Given the description of an element on the screen output the (x, y) to click on. 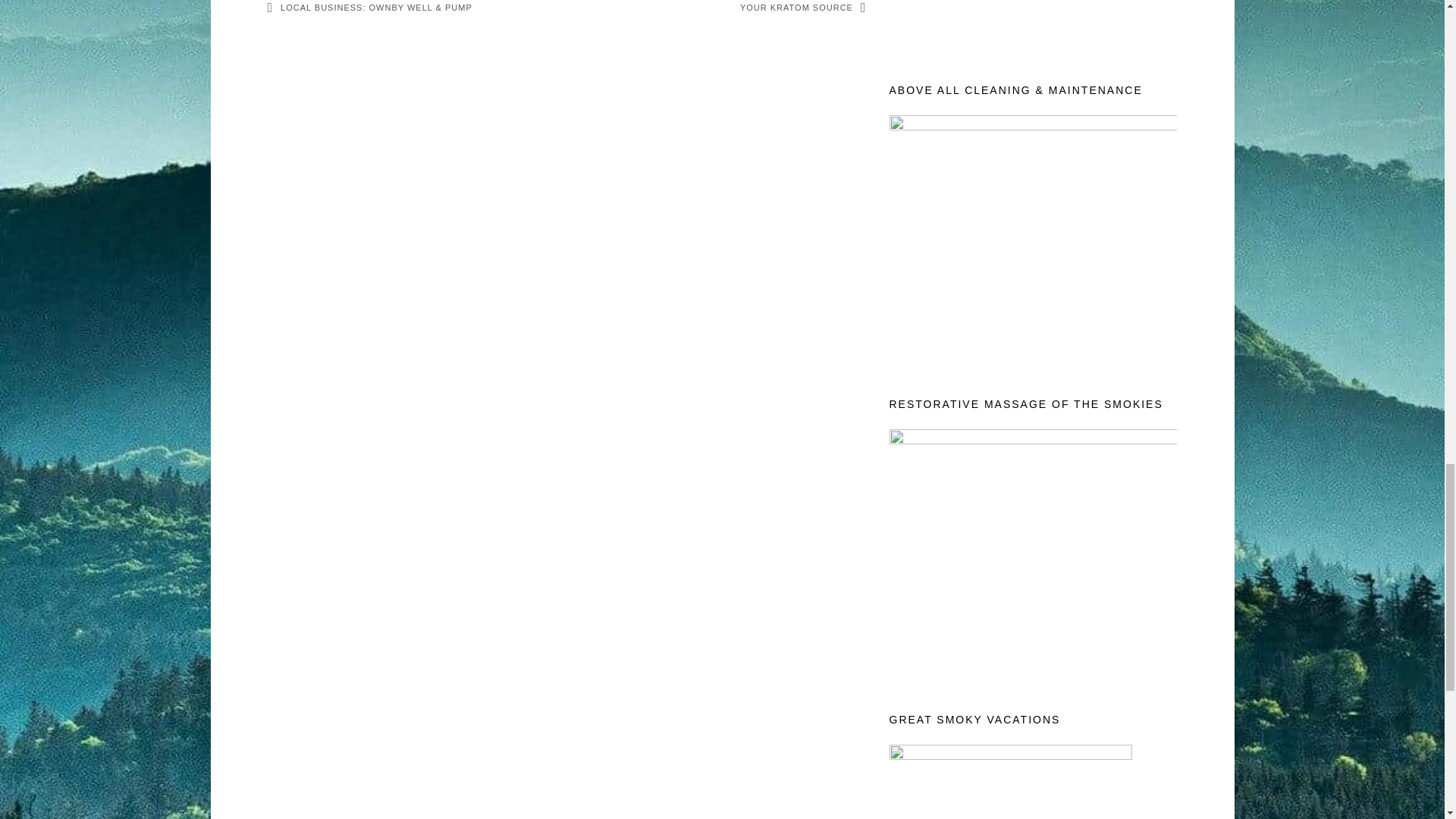
Foothills Farm, TN. (1032, 235)
Foothills Farm, TN. (1009, 781)
Foothills Farm, TN. (1032, 21)
Foothills Farm, TN. (1032, 550)
